Given the description of an element on the screen output the (x, y) to click on. 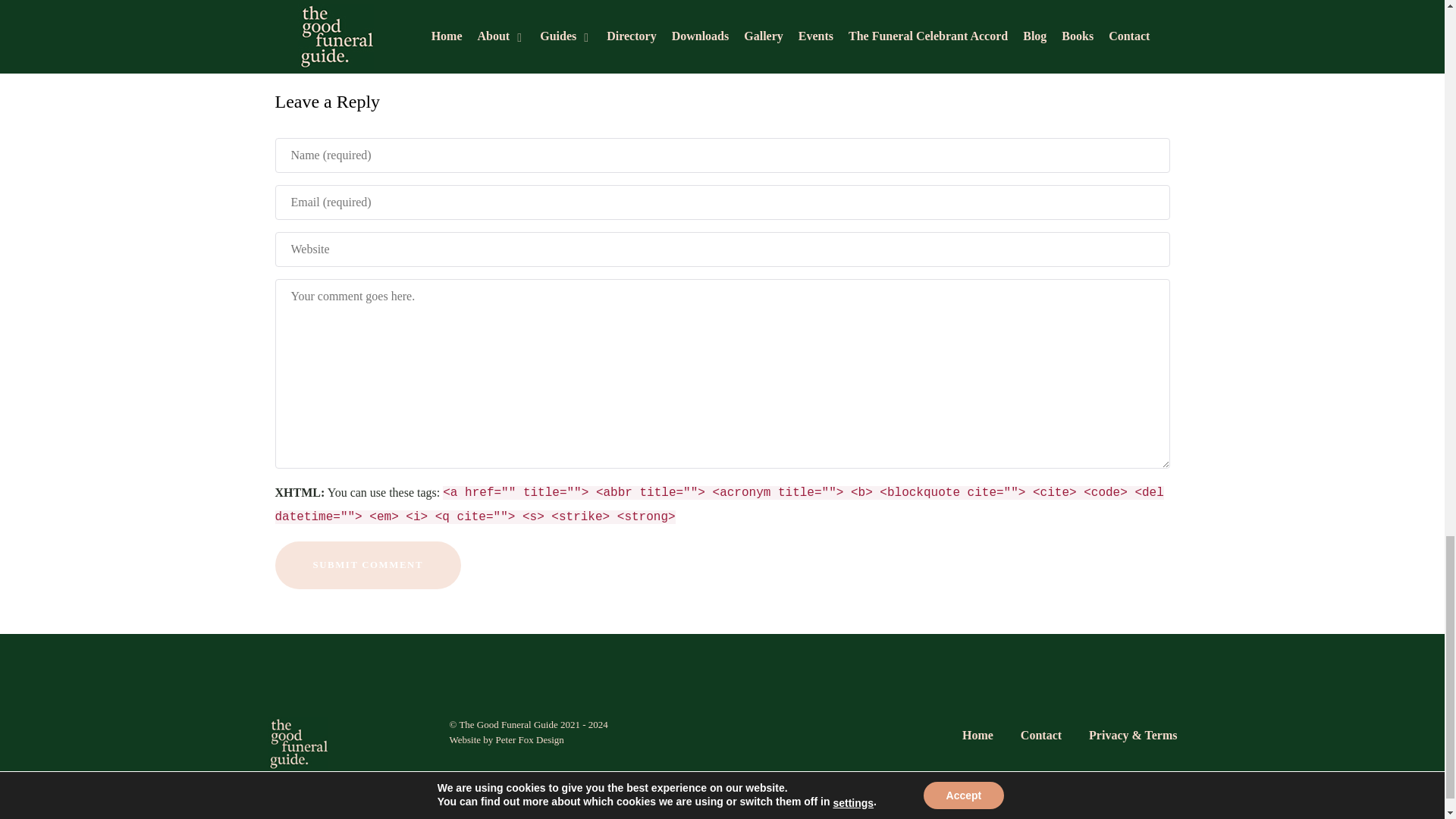
Home (977, 738)
Submit Comment (368, 564)
Contact (1040, 738)
